Given the description of an element on the screen output the (x, y) to click on. 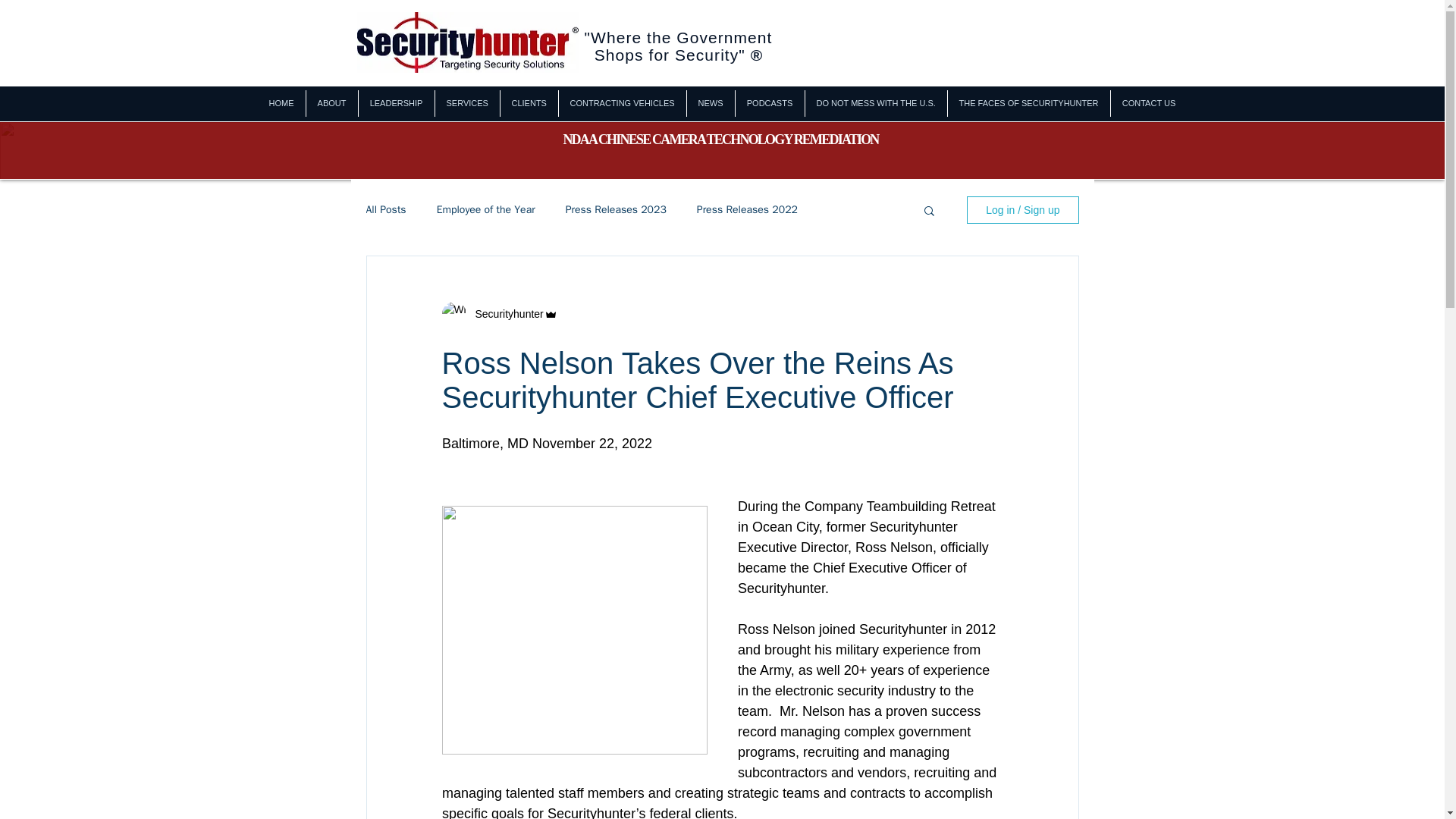
Press Releases 2022 (747, 210)
Employee of the Year (485, 210)
CONTACT US (1147, 103)
THE FACES OF SECURITYHUNTER (1028, 103)
CLIENTS (528, 103)
LEADERSHIP (395, 103)
CONTRACTING VEHICLES (621, 103)
SERVICES (467, 103)
DO NOT MESS WITH THE U.S. (876, 103)
NDAA CHINESE CAMERA TECHNOLOGY REMEDIATION (719, 139)
All Posts (385, 210)
PODCASTS (770, 103)
Securityhunter (504, 314)
HOME (281, 103)
Press Releases 2023 (616, 210)
